Given the description of an element on the screen output the (x, y) to click on. 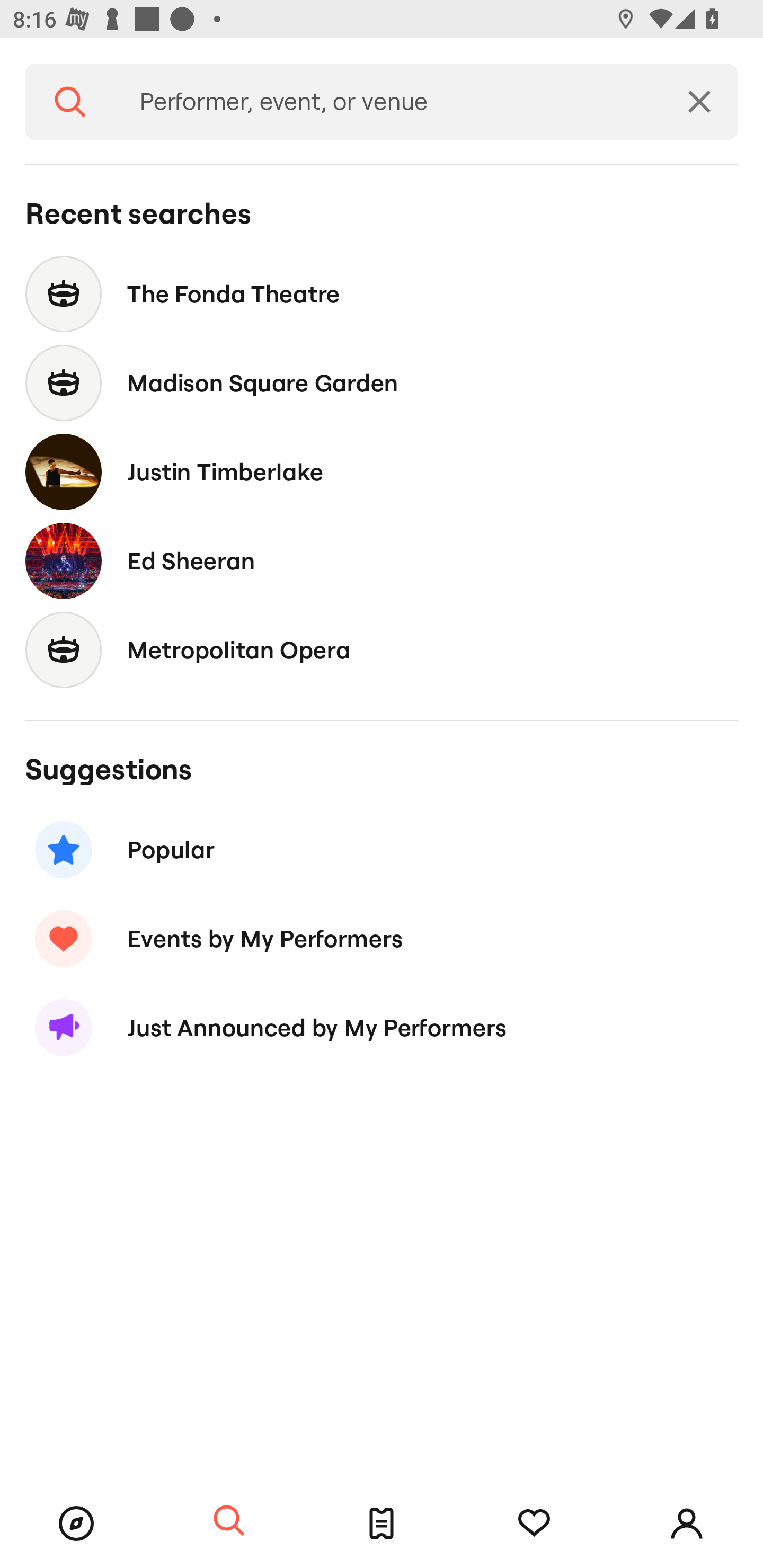
Search (69, 101)
Performer, event, or venue (387, 101)
Clear (699, 101)
The Fonda Theatre (381, 293)
Madison Square Garden (381, 383)
Justin Timberlake (381, 471)
Ed Sheeran (381, 560)
Metropolitan Opera (381, 649)
Popular (381, 849)
Events by My Performers (381, 938)
Just Announced by My Performers (381, 1027)
Browse (76, 1523)
Search (228, 1521)
Tickets (381, 1523)
Tracking (533, 1523)
Account (686, 1523)
